Given the description of an element on the screen output the (x, y) to click on. 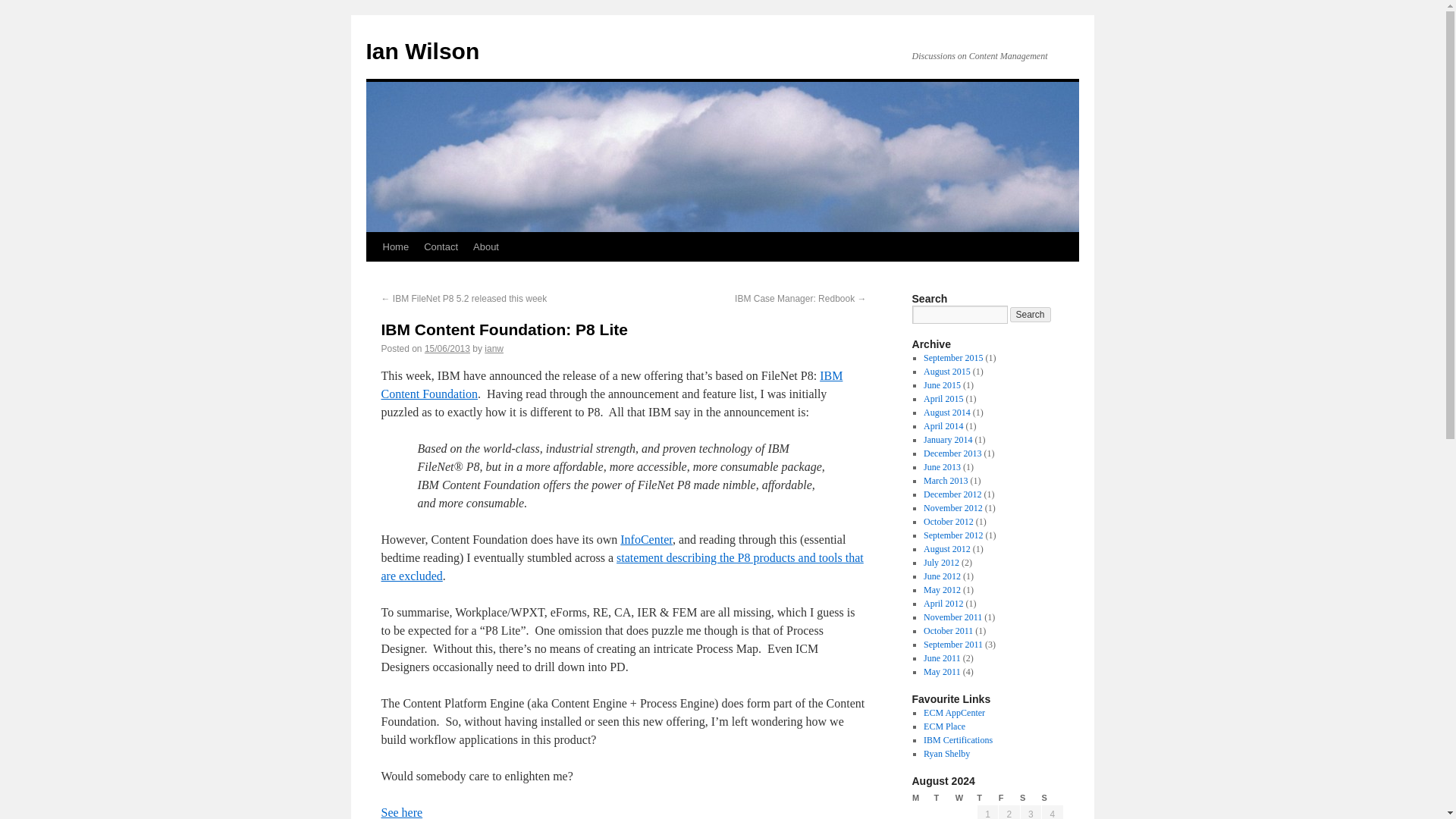
January 2014 (947, 439)
Wednesday (965, 798)
December 2013 (952, 452)
April 2012 (942, 603)
Tuesday (944, 798)
August 2014 (947, 412)
June 2012 (941, 575)
Search (1030, 314)
Saturday (1030, 798)
Contact (440, 246)
About (485, 246)
October 2012 (948, 521)
Home (395, 246)
August 2012 (947, 548)
